Given the description of an element on the screen output the (x, y) to click on. 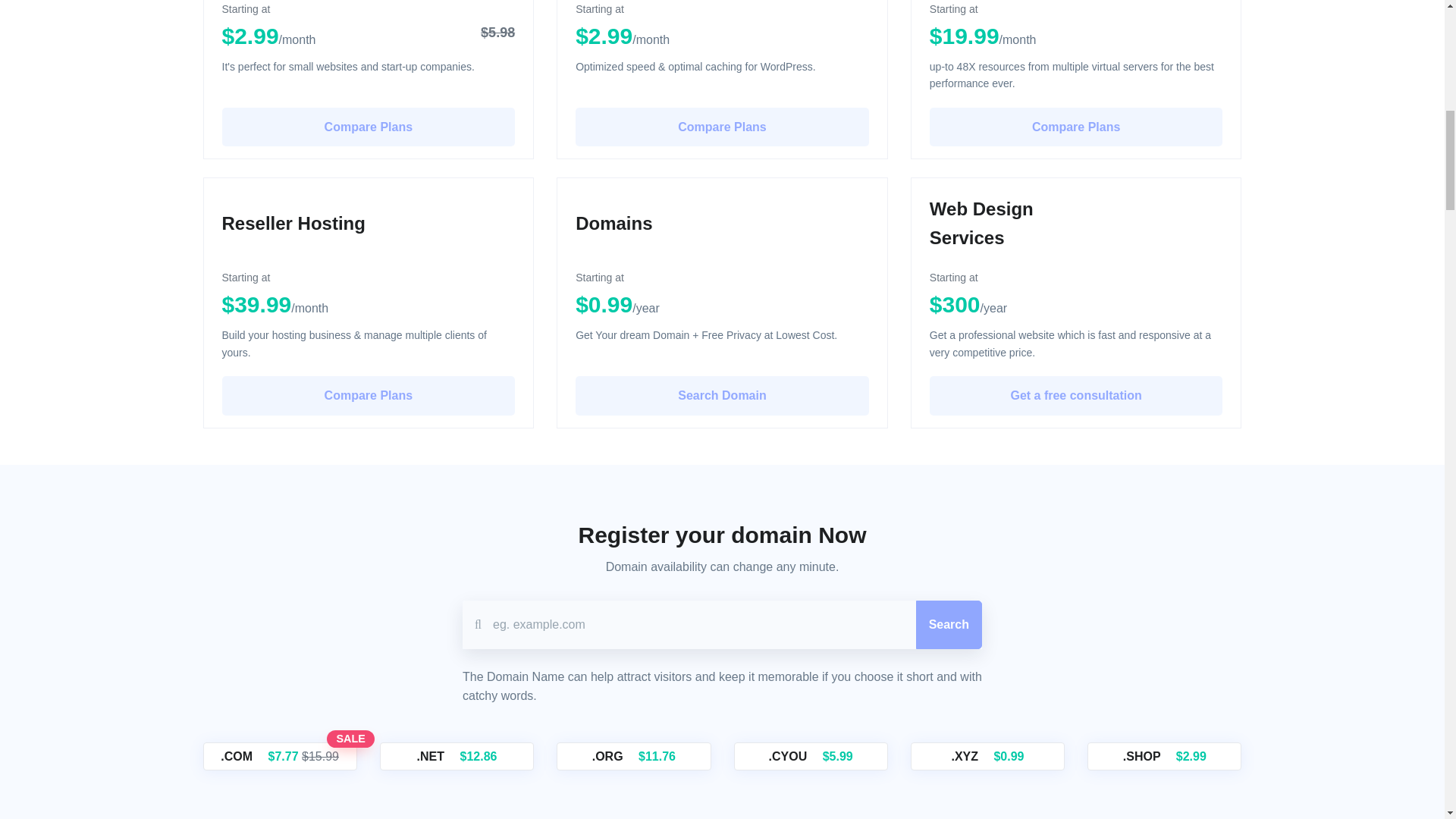
Compare Plans (368, 395)
Compare Plans (1076, 127)
Search (948, 624)
Compare Plans (368, 127)
Compare Plans (722, 127)
Search Domain (722, 395)
Get a free consultation (1076, 395)
Search (948, 624)
